Given the description of an element on the screen output the (x, y) to click on. 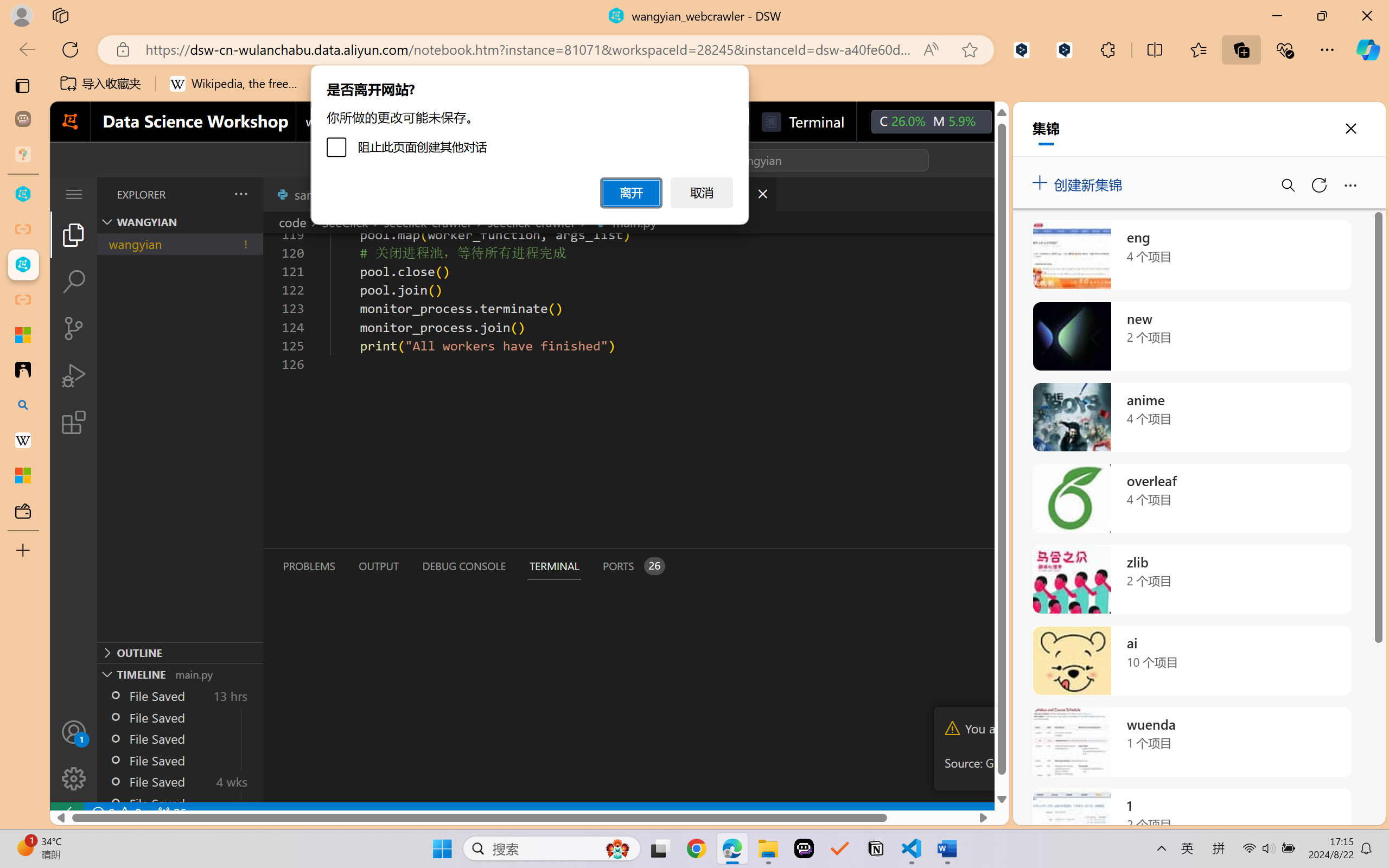
wangyian_dsw - DSW (22, 194)
Terminal (Ctrl+`) (553, 565)
Terminal actions (1002, 565)
Application Menu (73, 194)
Search (Ctrl+Shift+F) (73, 281)
